Given the description of an element on the screen output the (x, y) to click on. 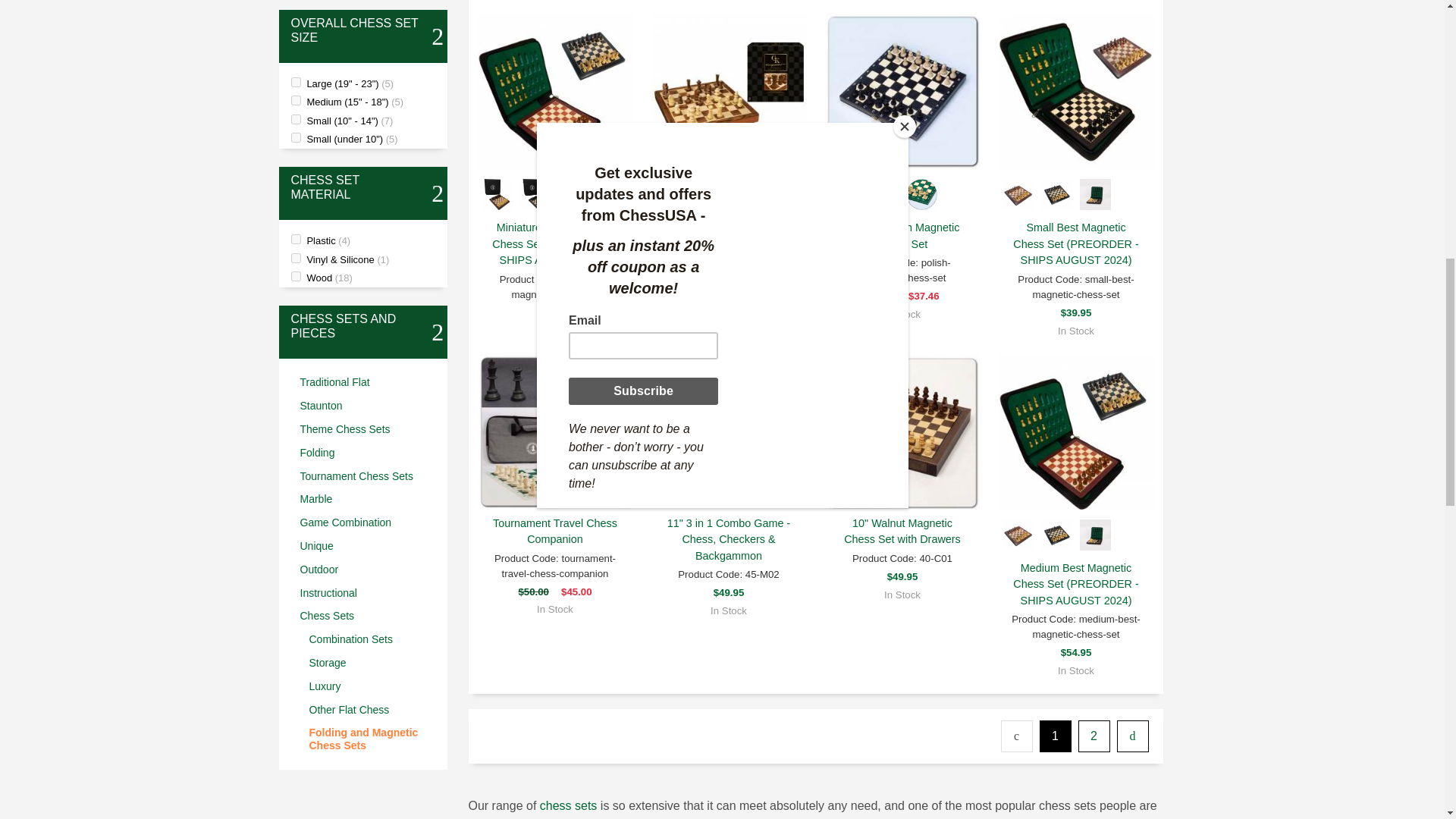
Go to category: Marble (367, 499)
Plastic (296, 239)
Go to category: Staunton (367, 405)
Go to category: Traditional Flat (367, 382)
Go to category: Tournament Chess Sets (367, 476)
Wood (296, 276)
Go to category: Folding (367, 453)
Chess Sets and Pieces (355, 326)
Go to category: Game Combination (367, 522)
Go to category: Theme Chess Sets (367, 429)
